Given the description of an element on the screen output the (x, y) to click on. 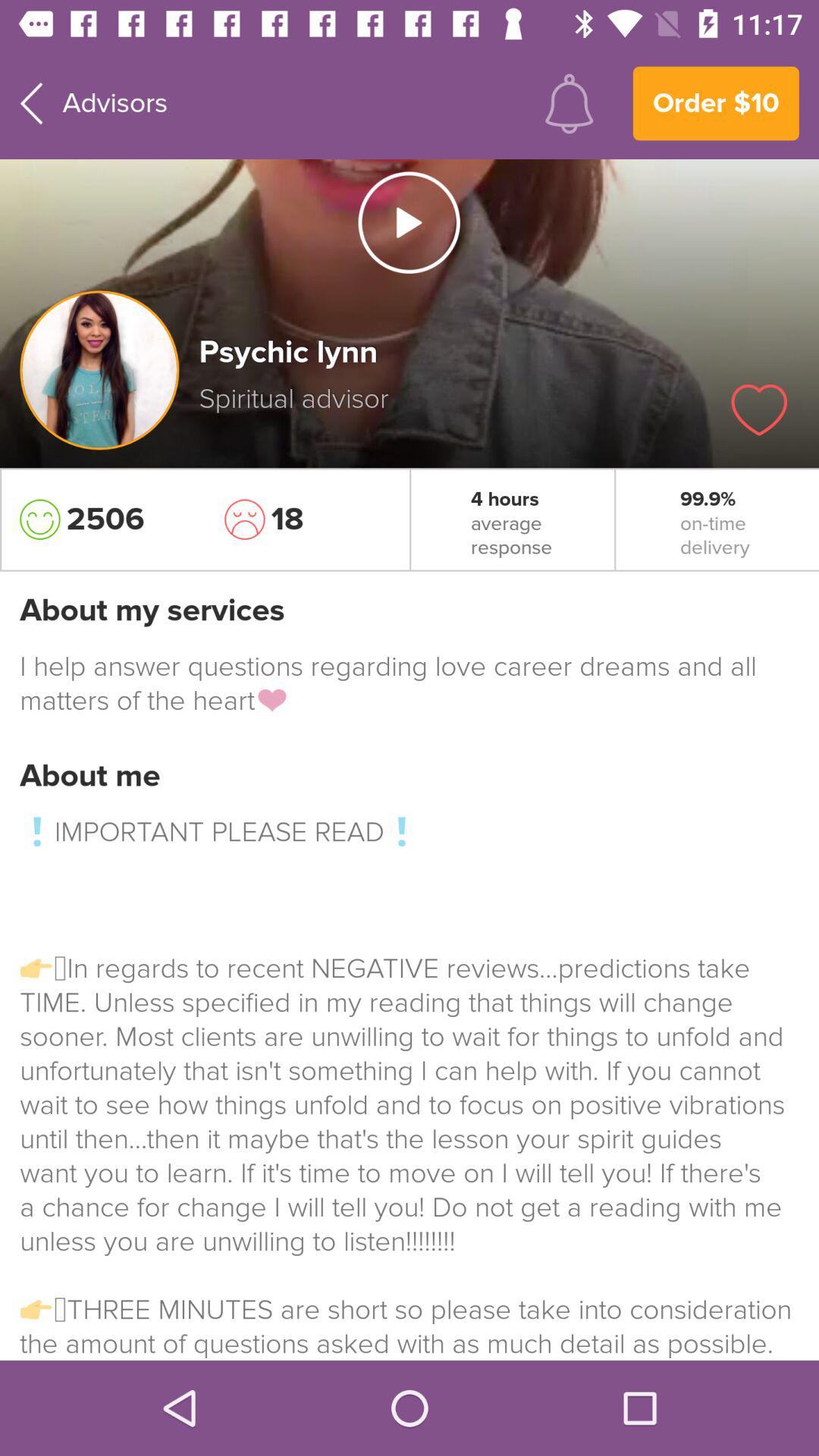
favorite this page (759, 409)
